Given the description of an element on the screen output the (x, y) to click on. 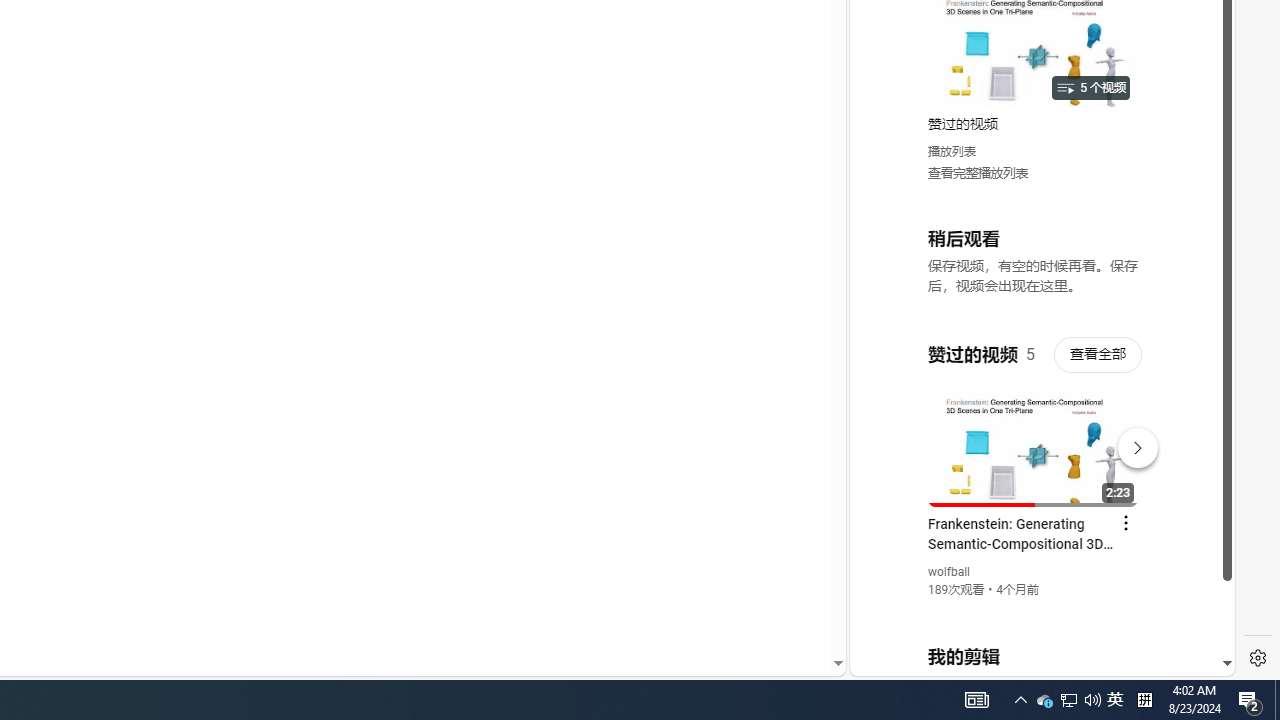
Actions for this site (1131, 443)
wolfball (949, 572)
Class: dict_pnIcon rms_img (1028, 660)
Search more (792, 604)
Global web icon (888, 432)
Click to scroll right (1196, 83)
#you (1034, 439)
